Given the description of an element on the screen output the (x, y) to click on. 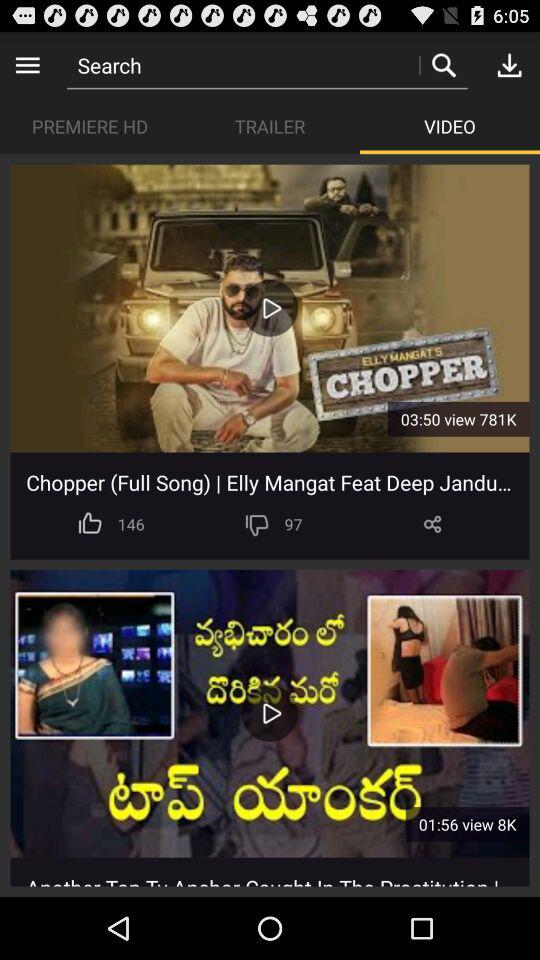
open item below search icon (450, 125)
